Given the description of an element on the screen output the (x, y) to click on. 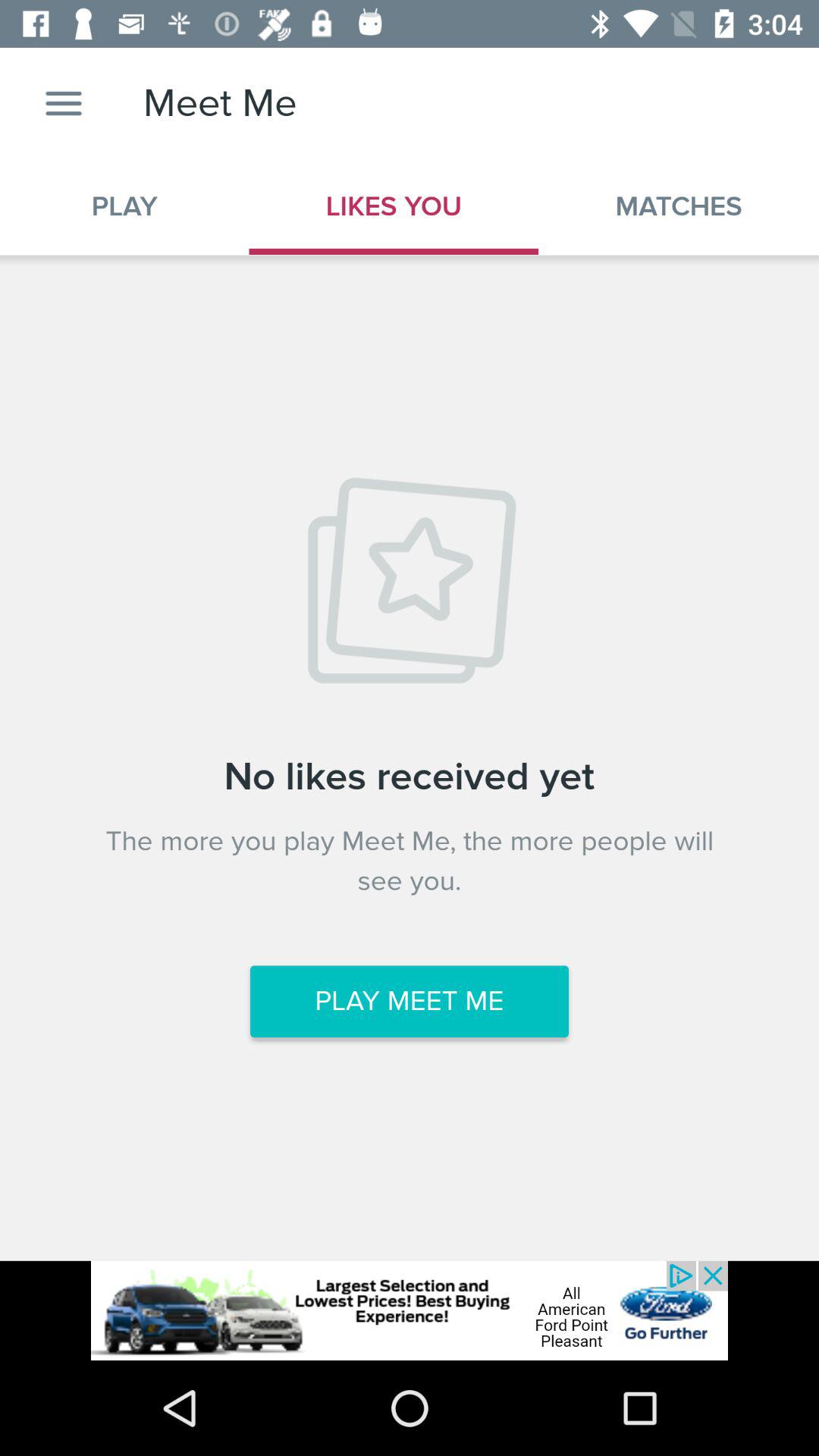
open menu (63, 103)
